Given the description of an element on the screen output the (x, y) to click on. 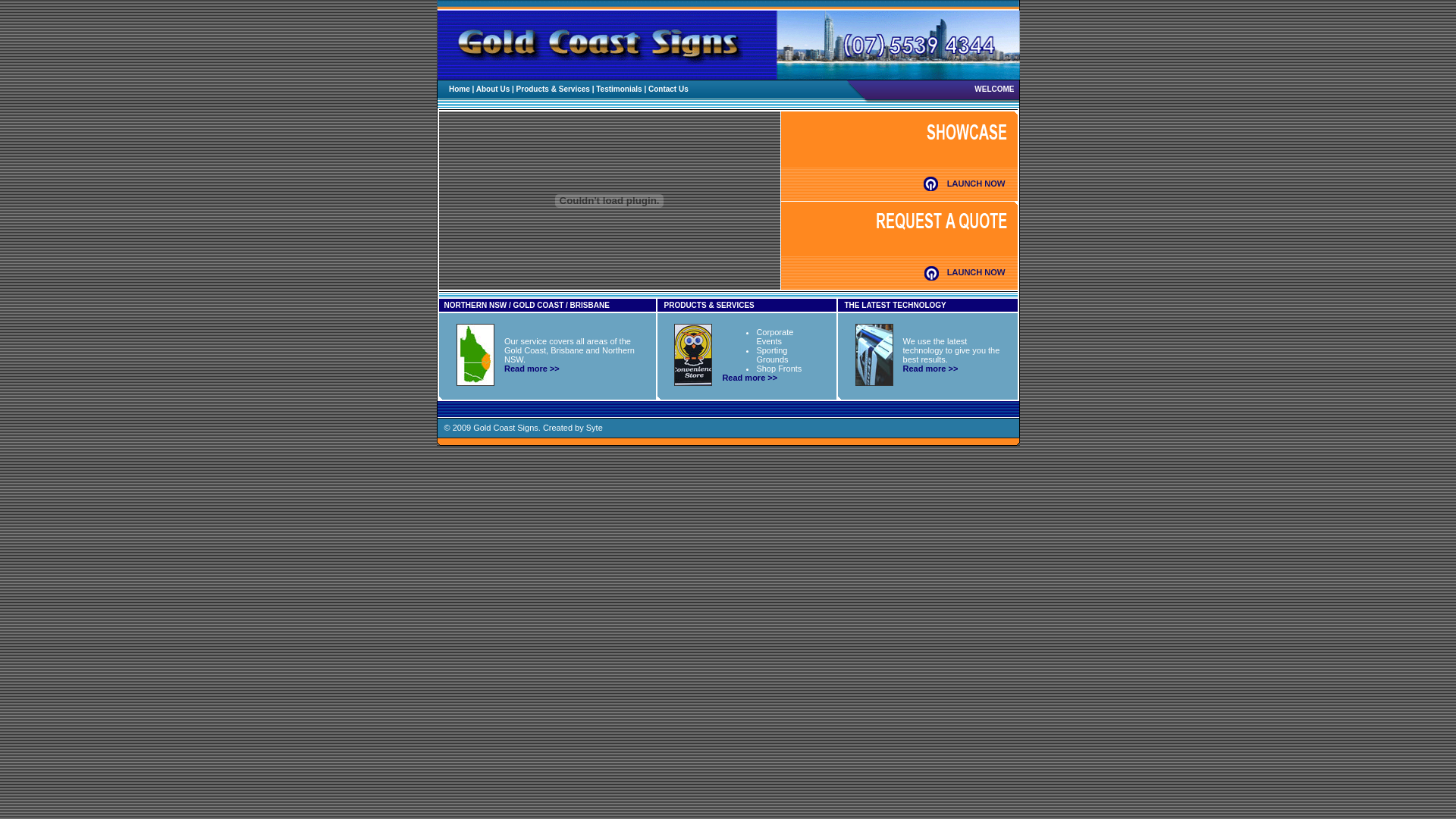
Testimonials Element type: text (618, 88)
Read more >> Element type: text (930, 368)
Products & Services Element type: text (552, 88)
About Us Element type: text (492, 88)
Read more >> Element type: text (749, 377)
Home Element type: text (459, 88)
Contact Us Element type: text (668, 88)
Syte Element type: text (594, 427)
Read more >> Element type: text (531, 368)
